Given the description of an element on the screen output the (x, y) to click on. 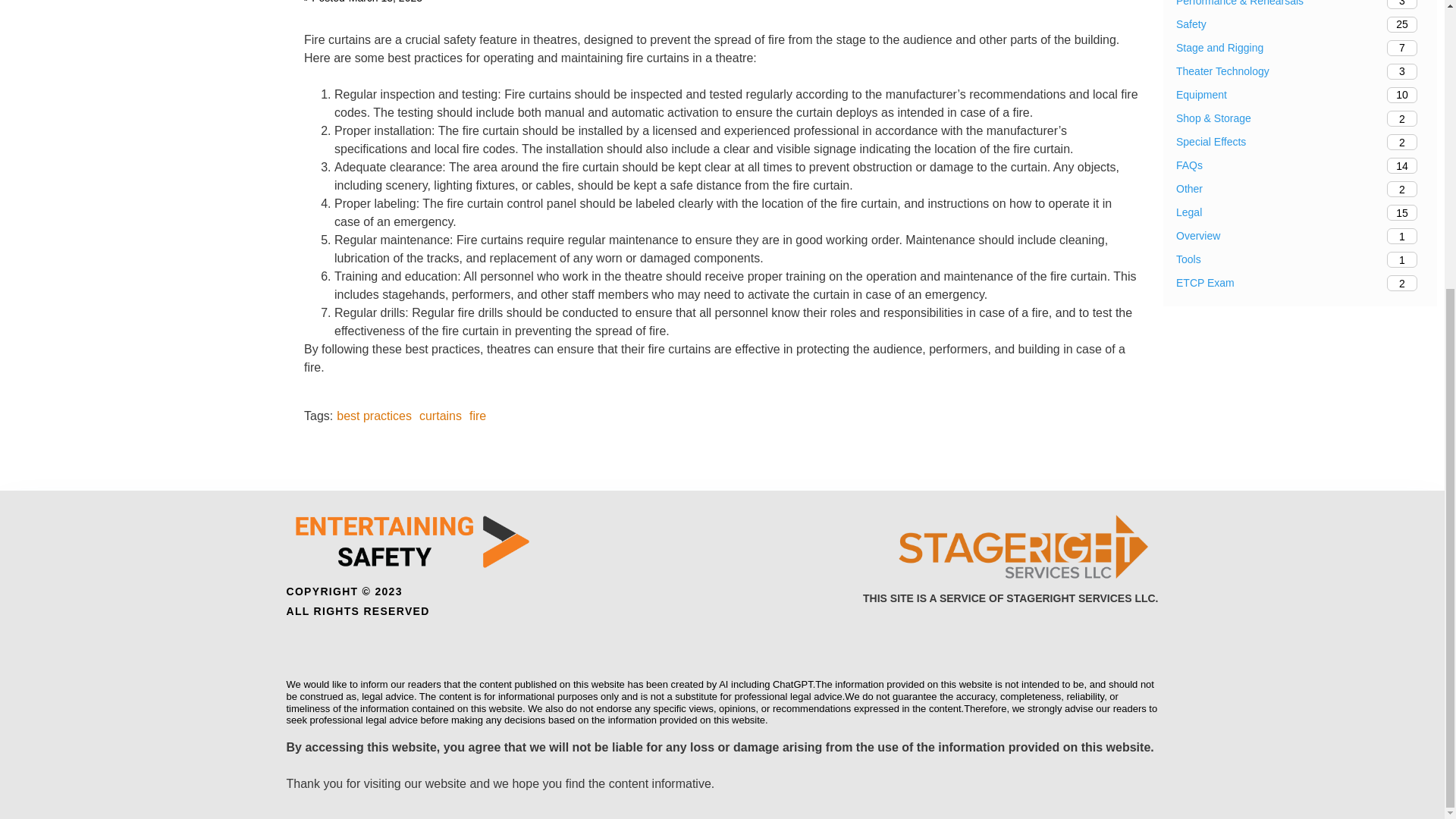
fire (1299, 94)
curtains (1299, 165)
